Given the description of an element on the screen output the (x, y) to click on. 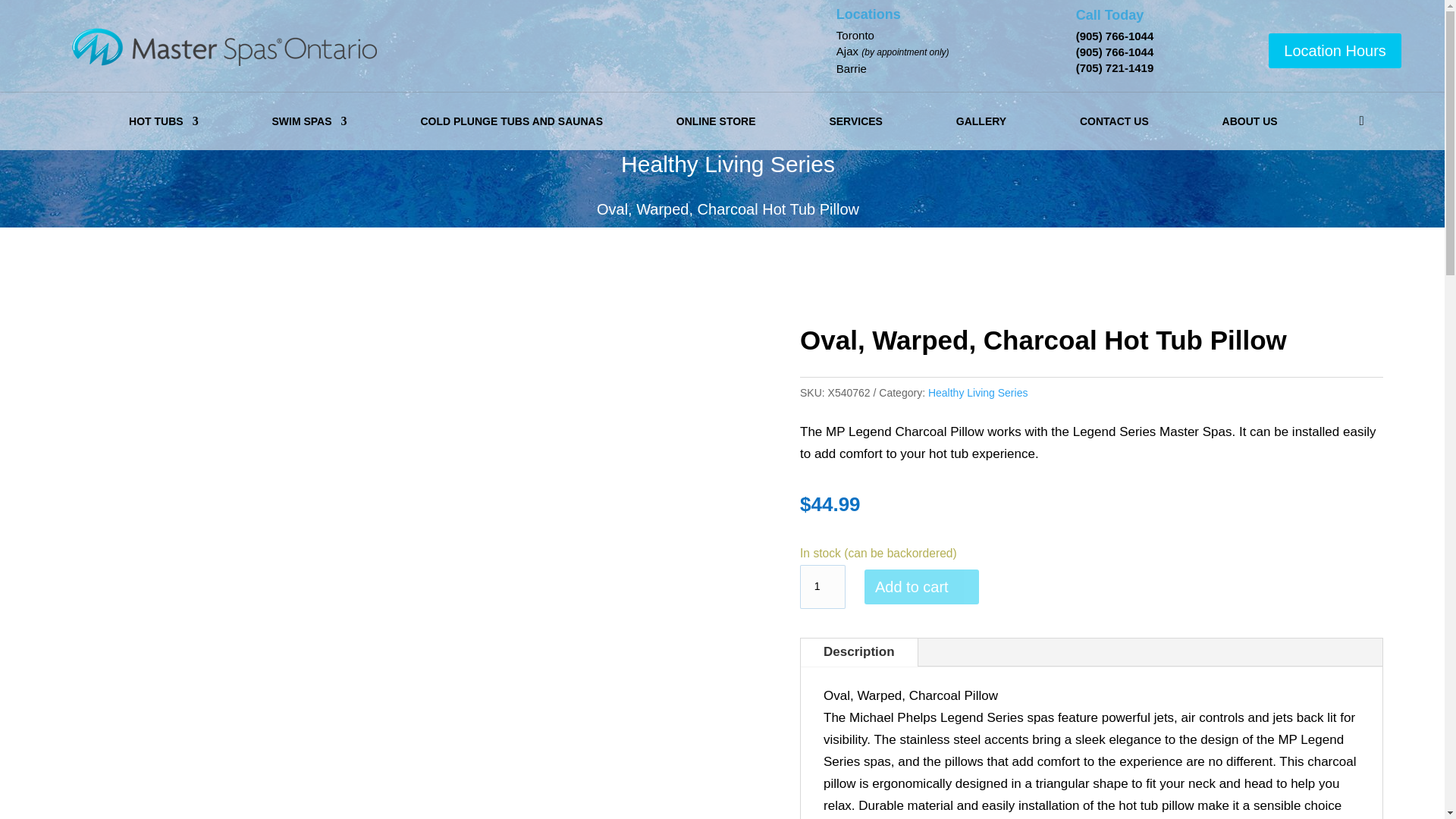
Location Hours (1334, 50)
1 (822, 587)
CONTACT US (1114, 120)
ONLINE STORE (716, 120)
HOT TUBS (163, 120)
Add to cart (921, 586)
SERVICES (855, 120)
Healthy Living Series (977, 392)
COLD PLUNGE TUBS AND SAUNAS (511, 120)
SWIM SPAS (308, 120)
